Given the description of an element on the screen output the (x, y) to click on. 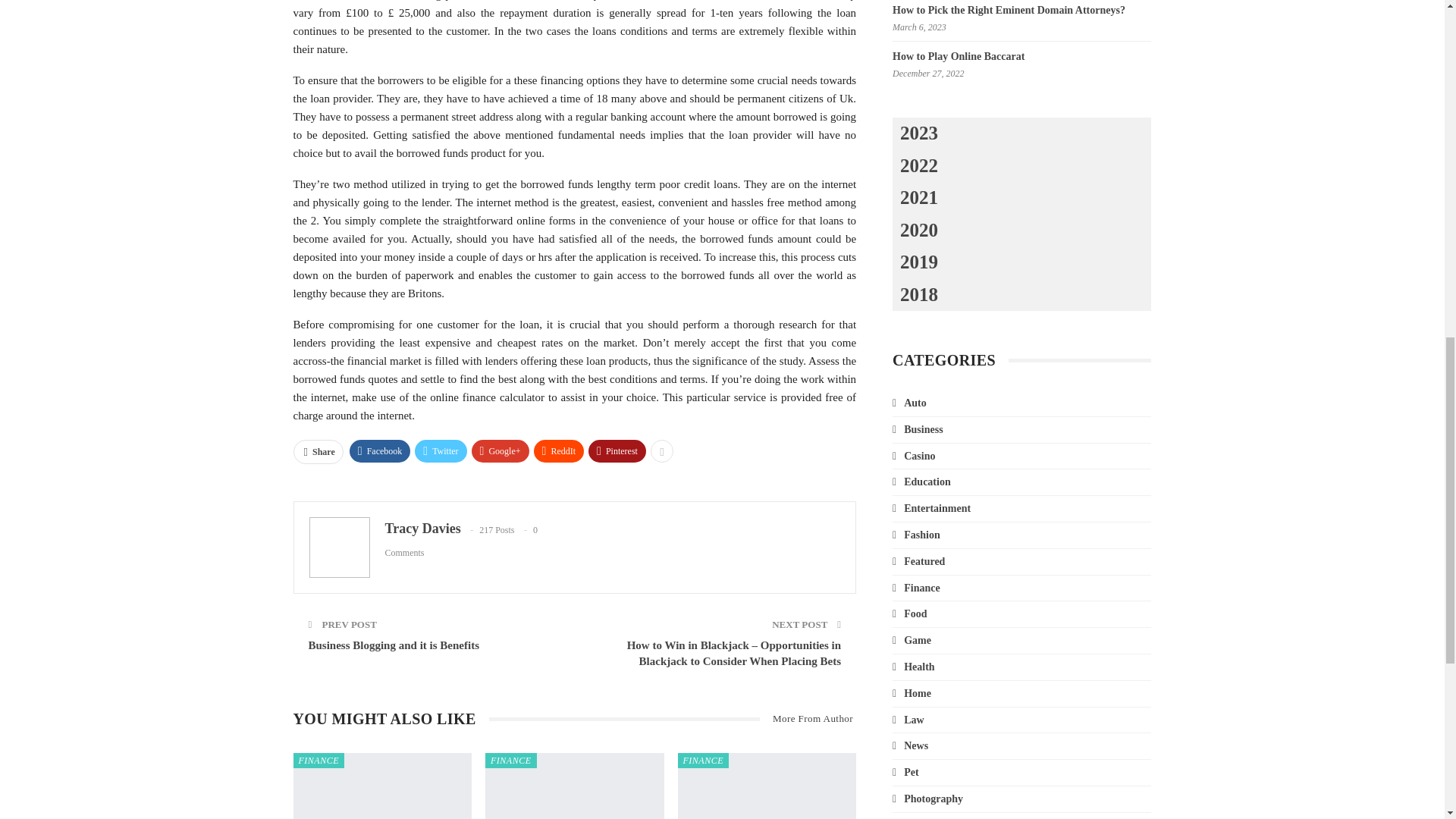
Twitter (439, 450)
ReddIt (559, 450)
A Guide to Understanding Mutual Funds (381, 785)
Facebook (379, 450)
